Given the description of an element on the screen output the (x, y) to click on. 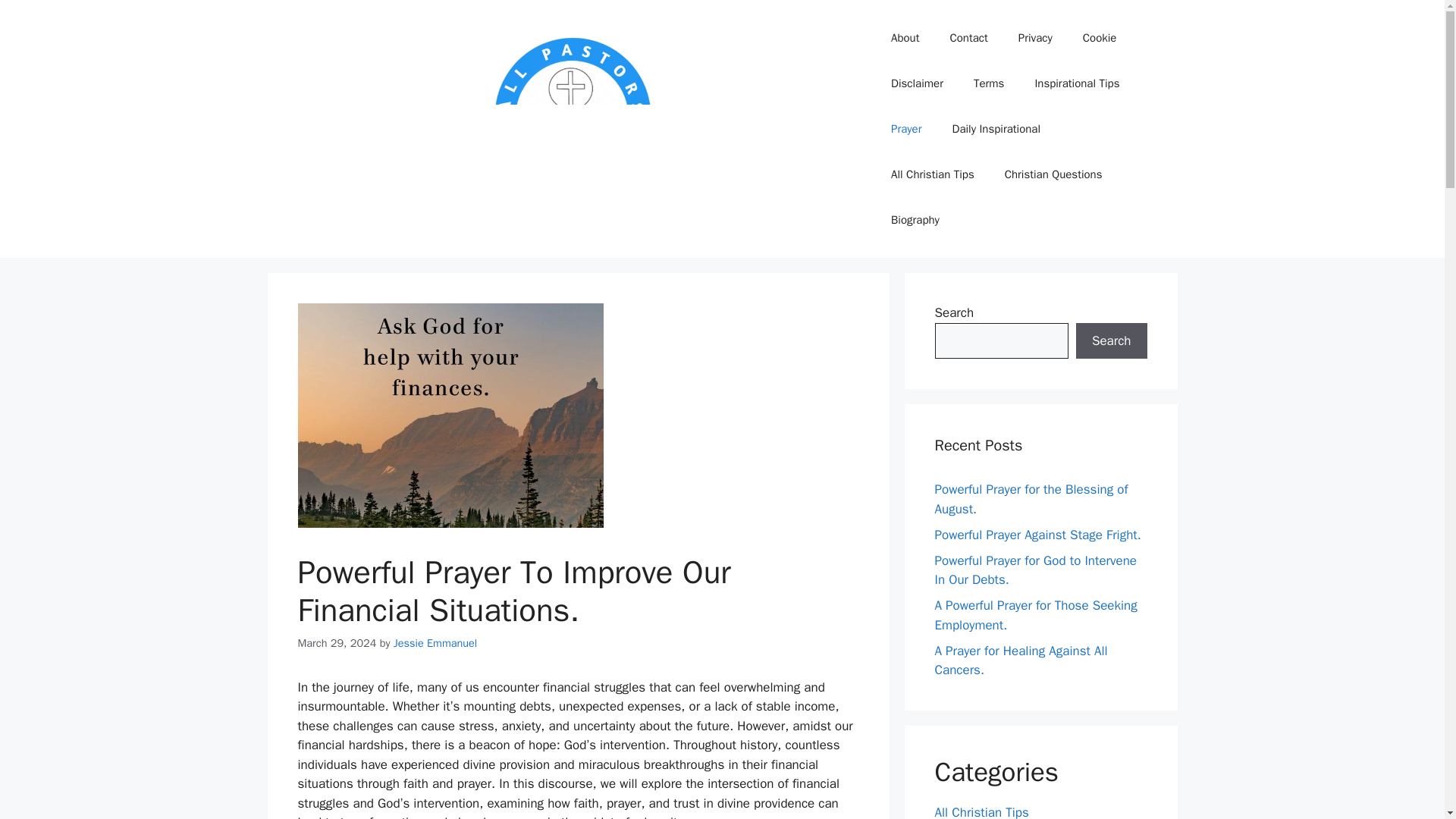
All Christian Tips (980, 811)
Biography (915, 219)
Christian Questions (1054, 174)
Powerful Prayer Against Stage Fright. (1037, 534)
A Prayer for Healing Against All Cancers. (1020, 660)
Privacy (1035, 37)
View all posts by Jessie Emmanuel (435, 643)
All Christian Tips (933, 174)
About (905, 37)
A Powerful Prayer for Those Seeking Employment. (1035, 615)
